Given the description of an element on the screen output the (x, y) to click on. 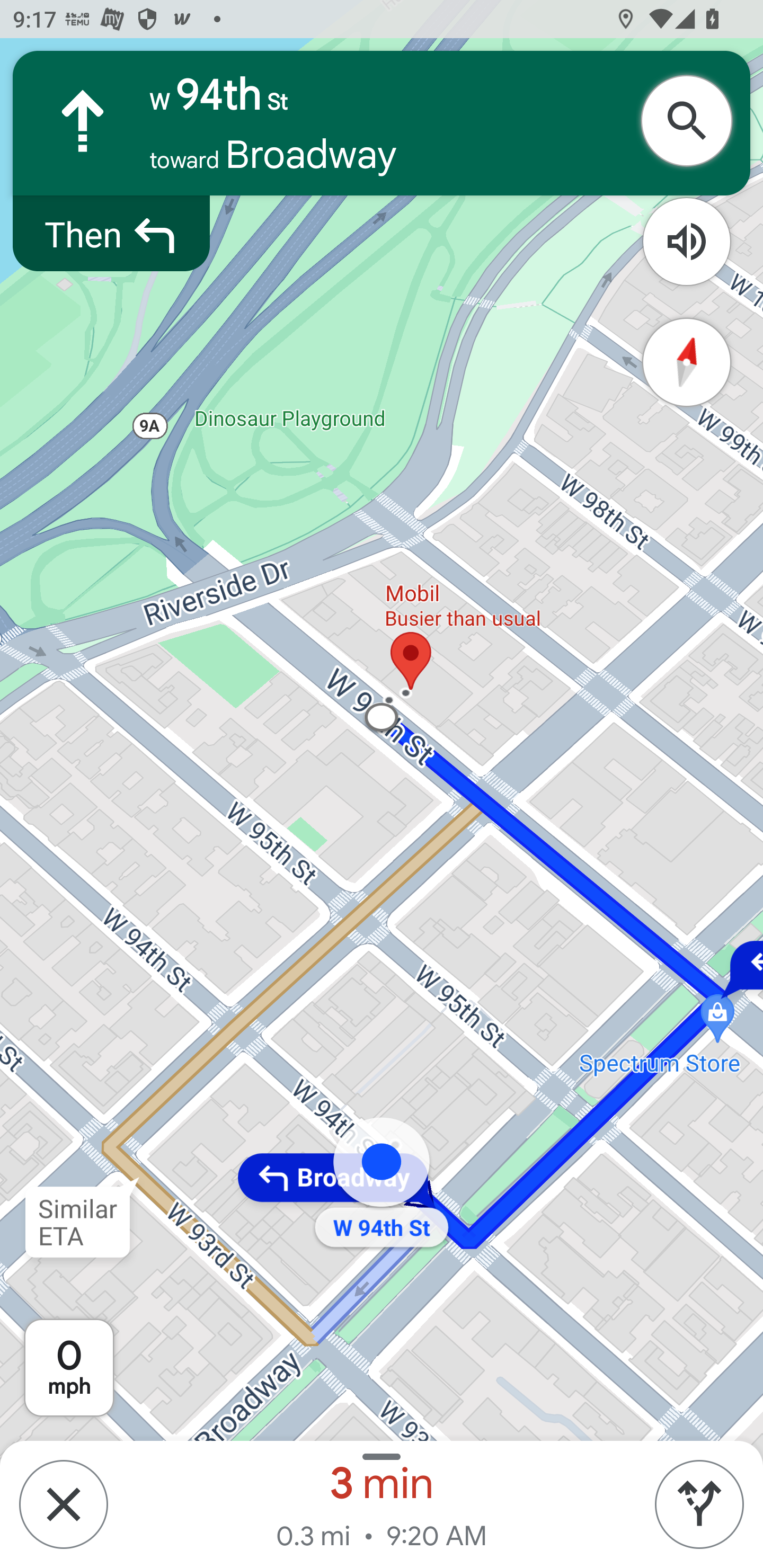
Search along route (692, 120)
Audio level selector: unmuted (686, 241)
Map bearing 344 degrees. (686, 362)
Current speed 0 miles per hour 0 mph (68, 1367)
Close navigation (63, 1504)
Route preview (699, 1504)
